Given the description of an element on the screen output the (x, y) to click on. 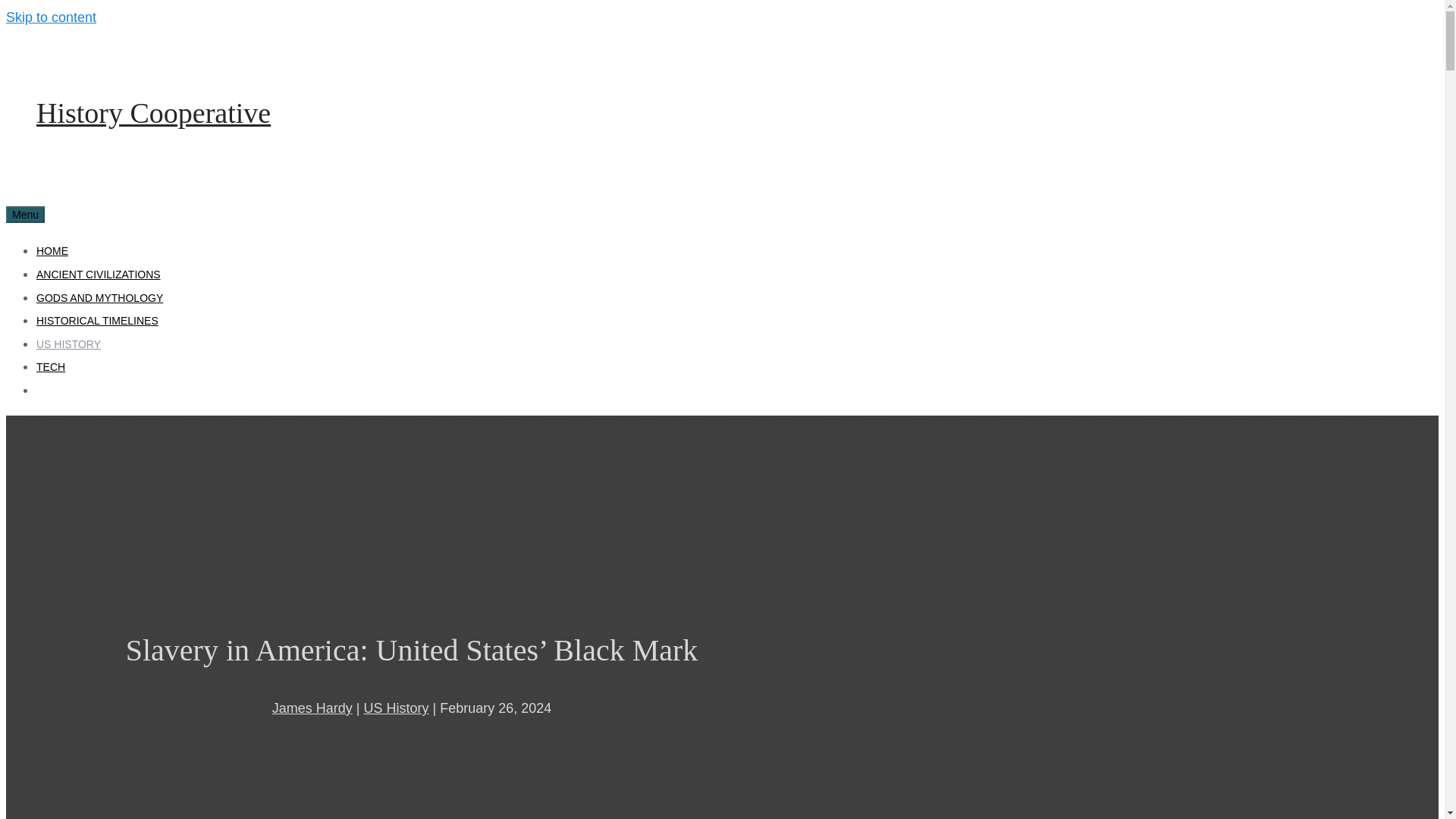
US History (395, 708)
James Hardy (312, 708)
Skip to content (50, 17)
ANCIENT CIVILIZATIONS (98, 274)
HISTORICAL TIMELINES (97, 320)
GODS AND MYTHOLOGY (99, 297)
Menu (25, 214)
US HISTORY (68, 344)
Skip to content (50, 17)
View all posts by James Hardy (312, 708)
